Given the description of an element on the screen output the (x, y) to click on. 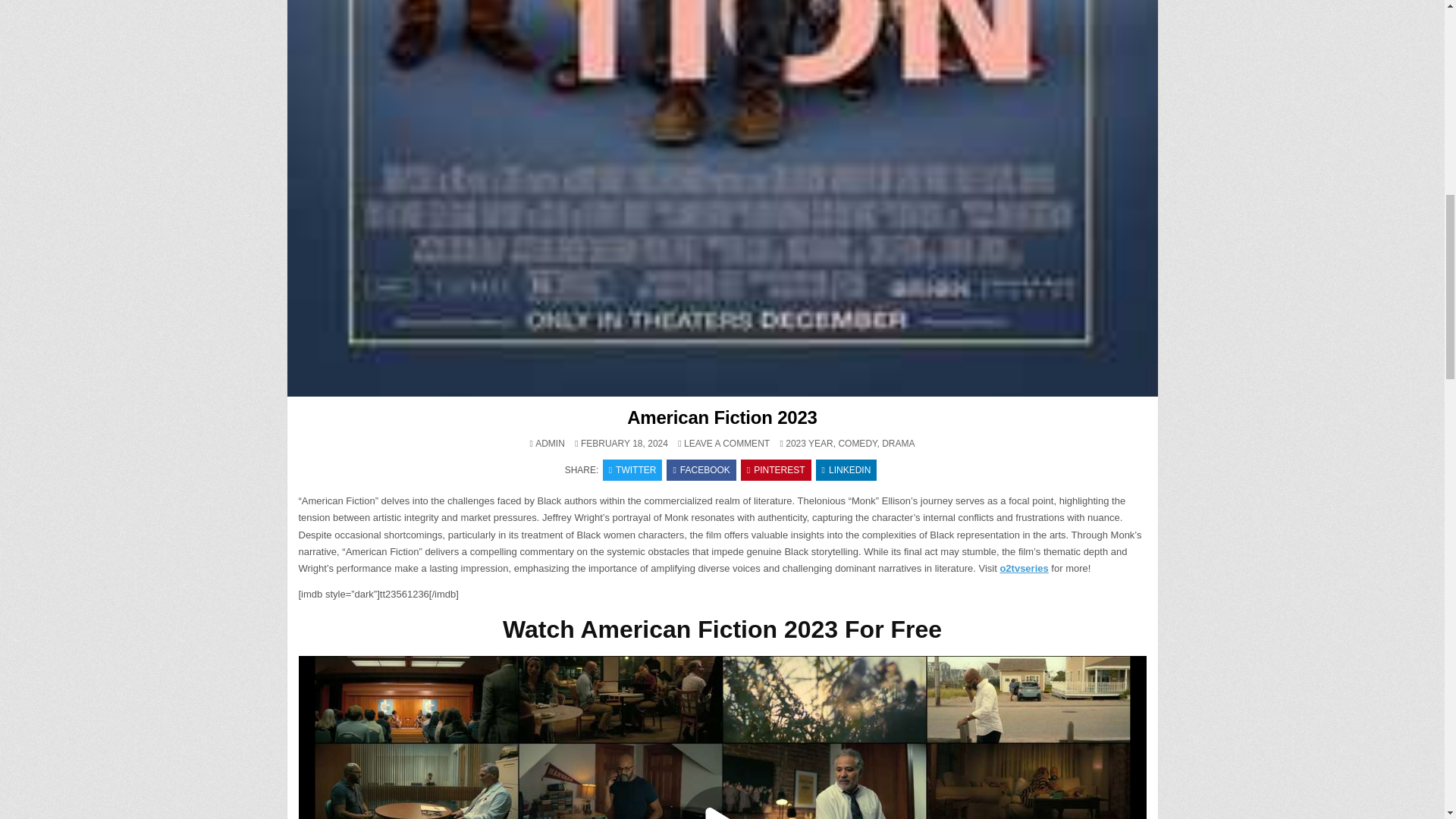
Share this on Linkedin (846, 469)
PINTEREST (775, 469)
LINKEDIN (846, 469)
Share this on Pinterest (775, 469)
COMEDY (857, 443)
American Fiction 2023 (721, 417)
FACEBOOK (700, 469)
DRAMA (898, 443)
o2tvseries (1023, 568)
ADMIN (549, 442)
Tweet This! (632, 469)
TWITTER (632, 469)
2023 YEAR (809, 443)
